Given the description of an element on the screen output the (x, y) to click on. 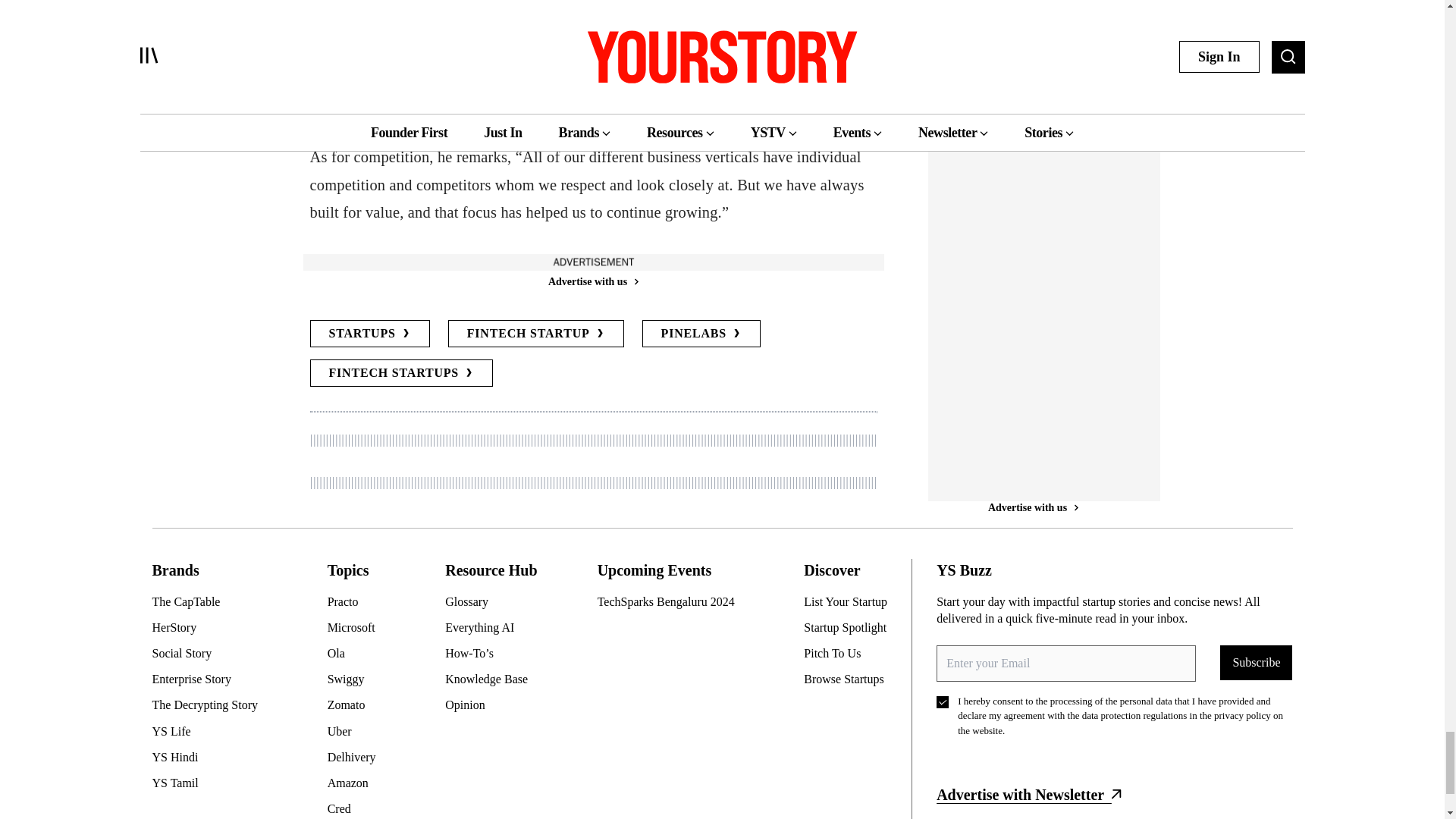
FINTECH STARTUP (536, 333)
STARTUPS (368, 333)
The CapTable (210, 601)
PINELABS (701, 333)
Advertise with us (592, 281)
FINTECH STARTUPS (400, 372)
